Given the description of an element on the screen output the (x, y) to click on. 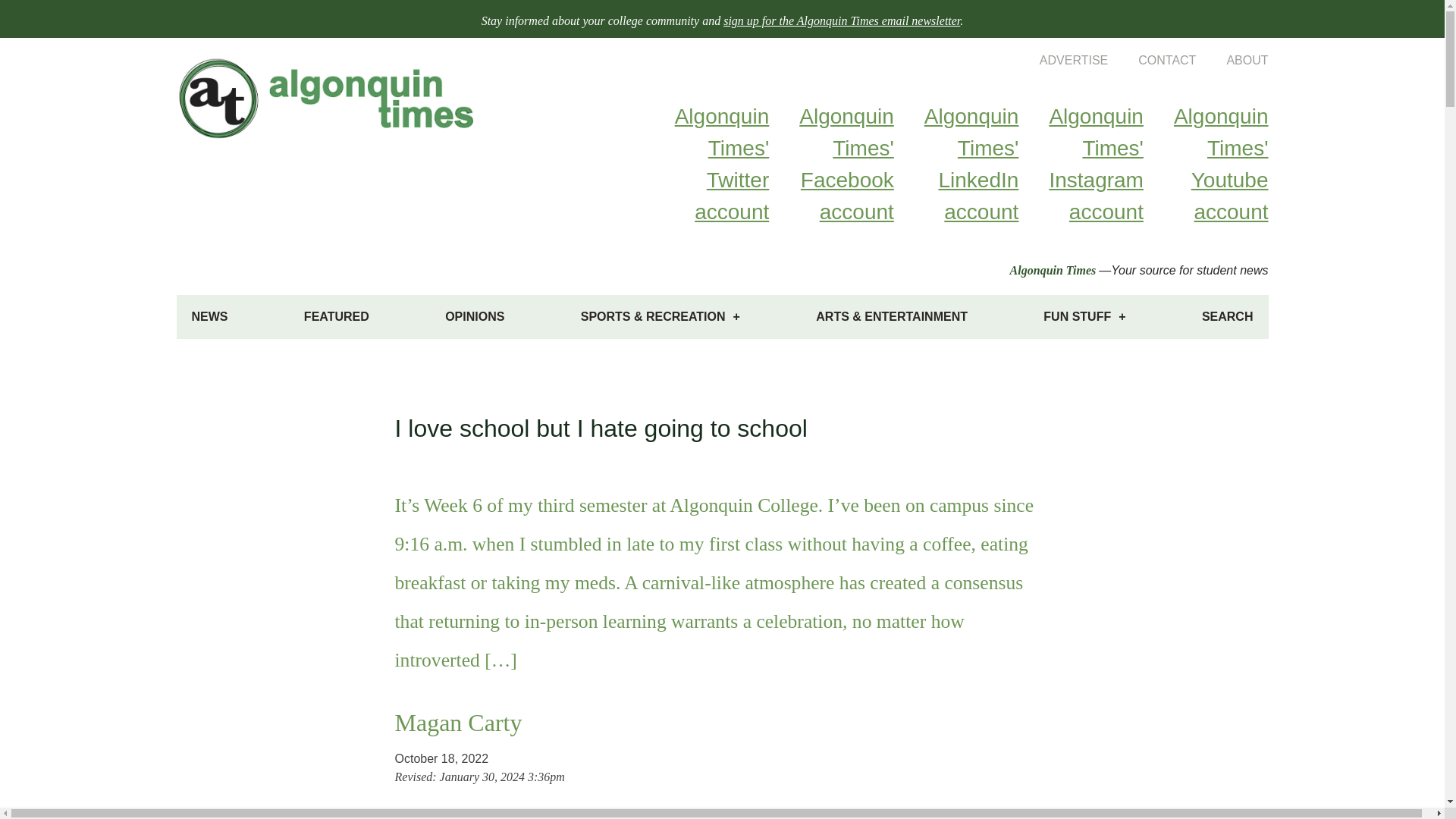
sign up for the Algonquin Times email newsletter (841, 20)
FUN STUFF (1083, 316)
Algonquin Times' Twitter account (707, 163)
SEARCH (1227, 316)
OPINIONS (474, 316)
Algonquin Times' Instagram account (1079, 163)
Algonquin Times' Facebook account (830, 163)
Algonquin Times (1053, 269)
NEWS (209, 316)
CONTACT (1151, 60)
ADVERTISE (1058, 60)
ABOUT (1231, 60)
FEATURED (336, 316)
Algonquin Times' LinkedIn account (956, 163)
Algonquin Times' Youtube account (1205, 163)
